Given the description of an element on the screen output the (x, y) to click on. 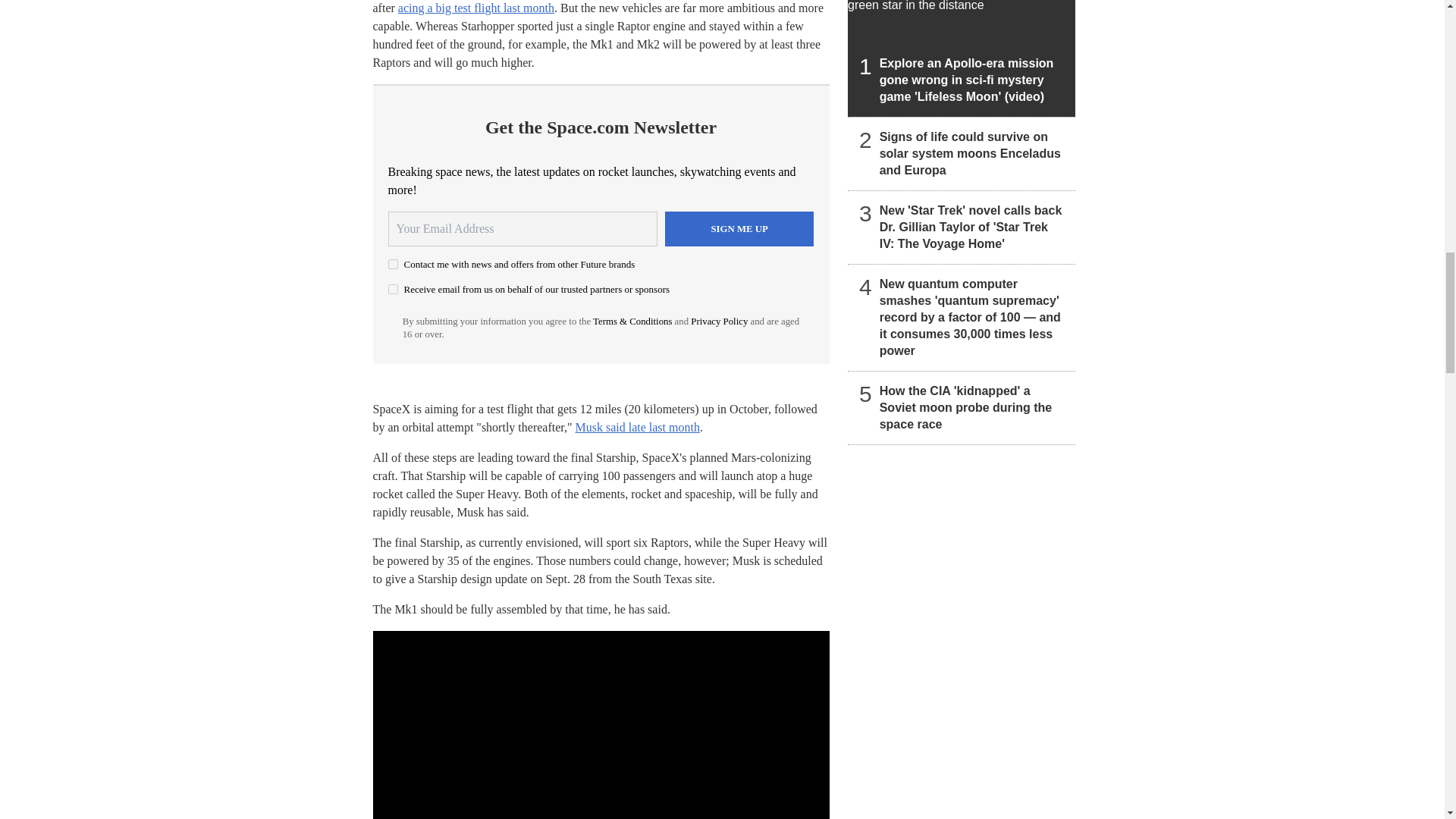
on (392, 289)
on (392, 264)
Sign me up (739, 228)
